Given the description of an element on the screen output the (x, y) to click on. 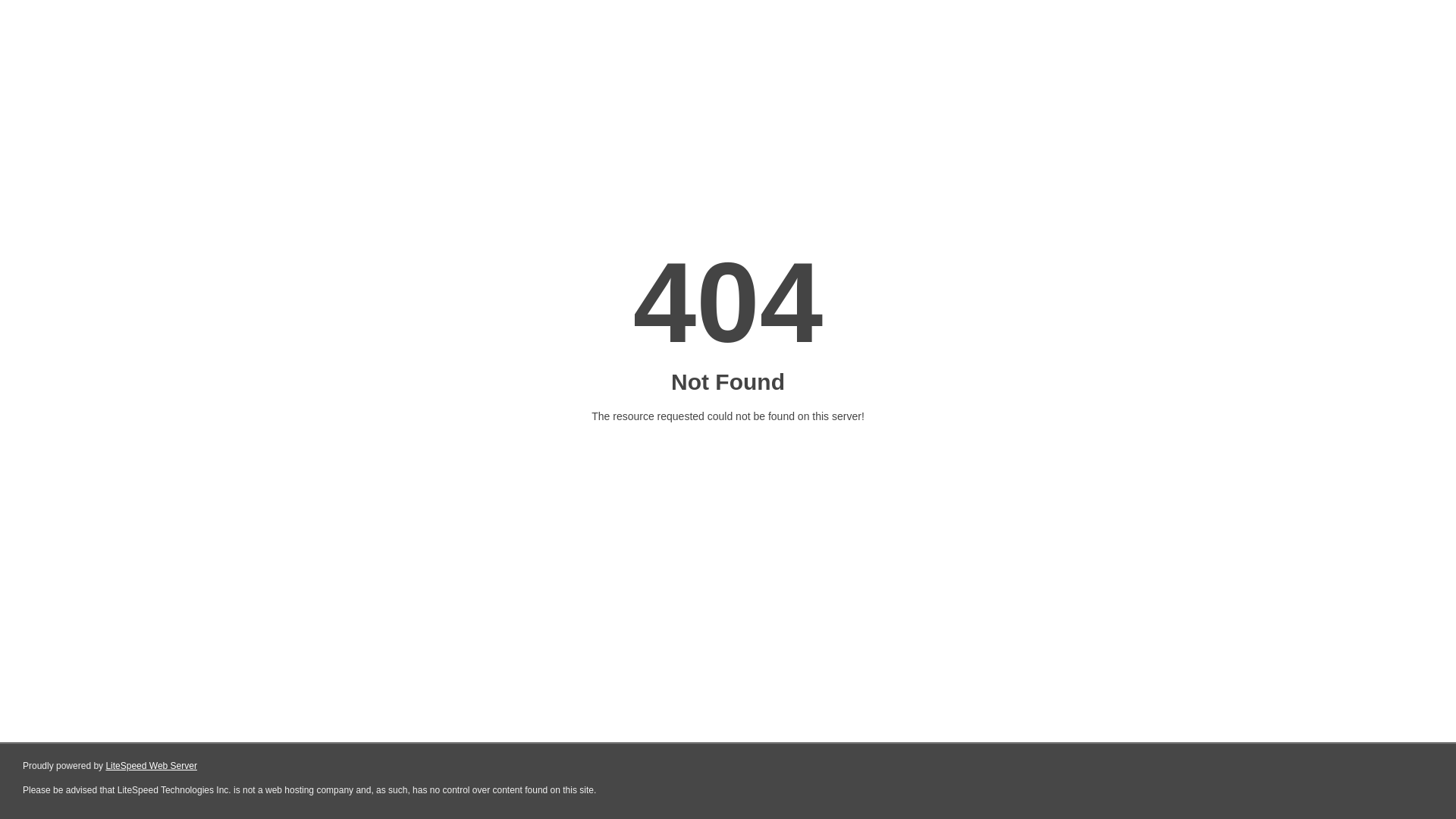
LiteSpeed Web Server Element type: text (151, 765)
